Given the description of an element on the screen output the (x, y) to click on. 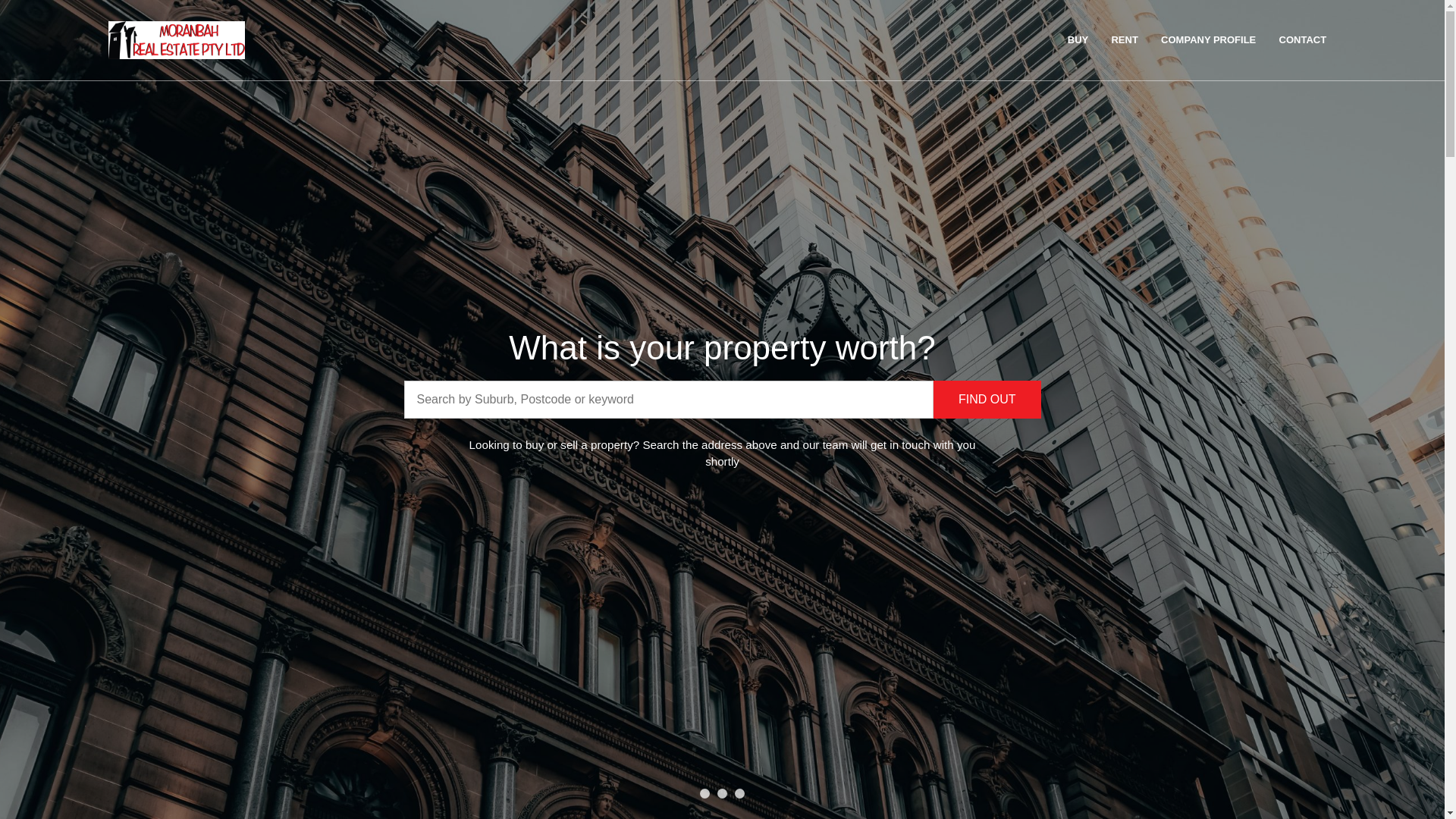
RENT Element type: text (1124, 40)
COMPANY PROFILE Element type: text (1208, 40)
BUY Element type: text (1077, 40)
FIND OUT Element type: text (987, 399)
CONTACT Element type: text (1302, 40)
